Given the description of an element on the screen output the (x, y) to click on. 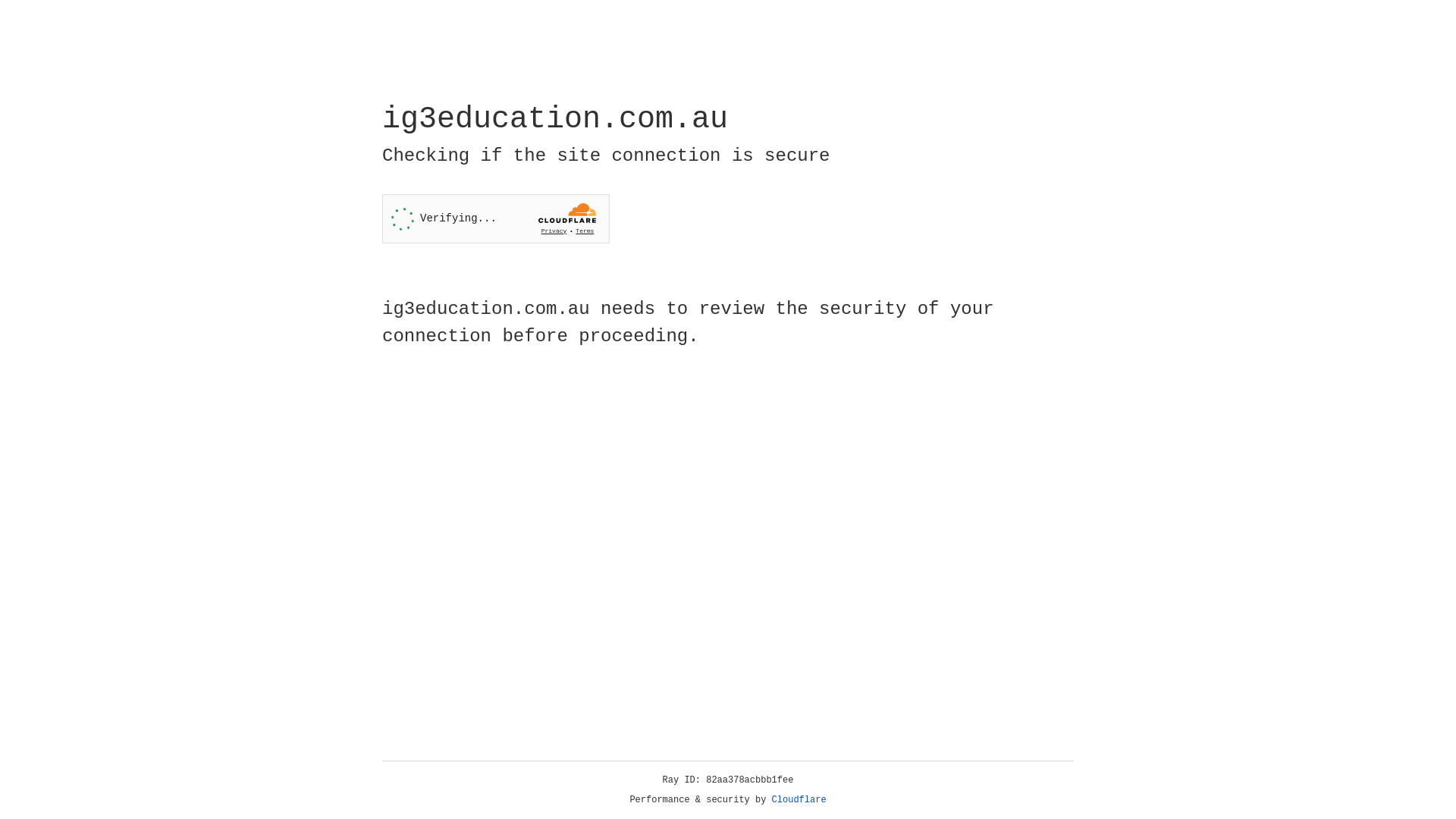
Widget containing a Cloudflare security challenge Element type: hover (495, 218)
Cloudflare Element type: text (798, 799)
